Given the description of an element on the screen output the (x, y) to click on. 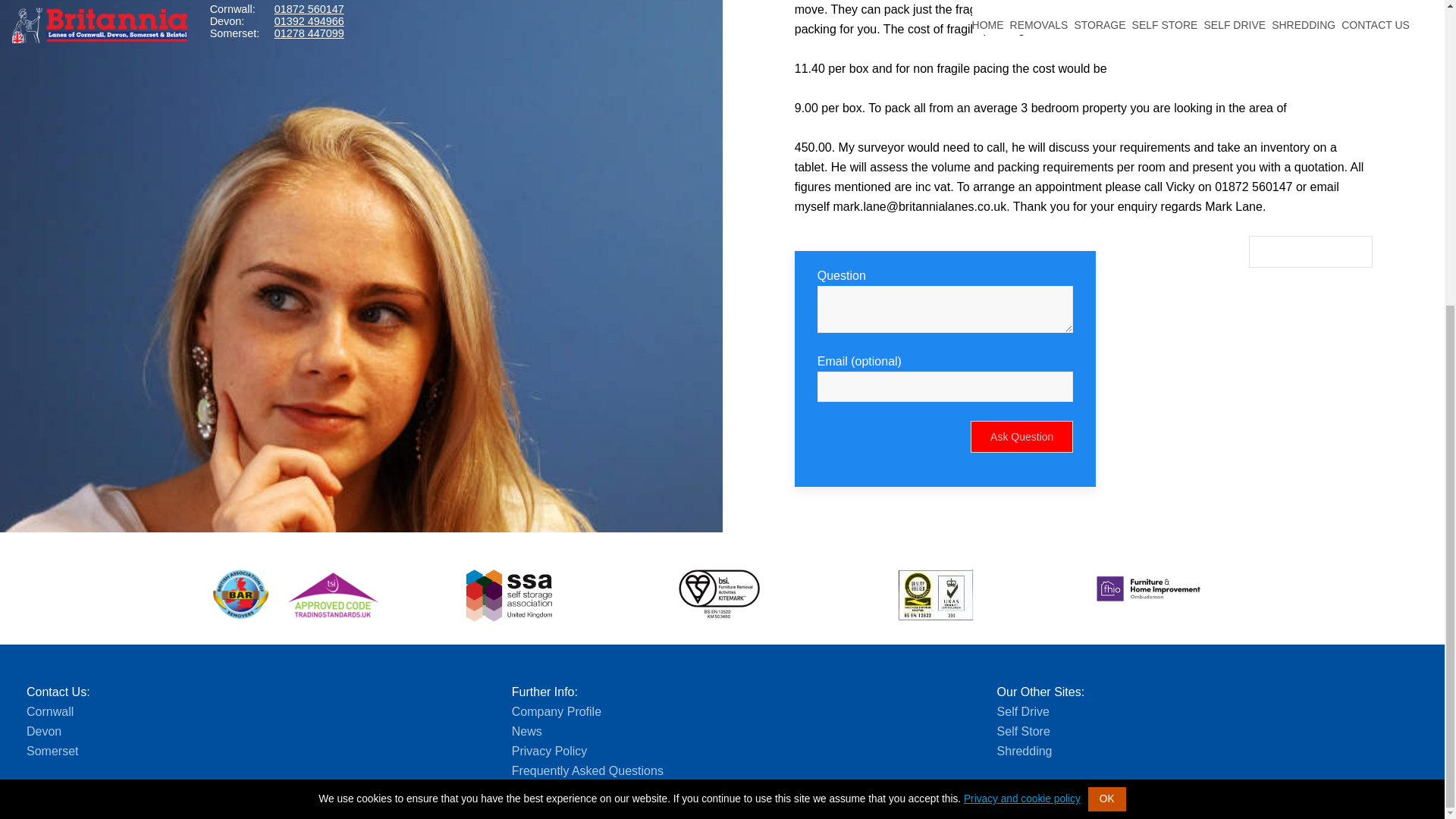
News (526, 730)
Back to questions (1310, 251)
Frequently Asked Questions (587, 770)
Somerset (52, 750)
Shredding (1024, 750)
Ask Question (1022, 436)
Privacy Policy (550, 750)
Devon (43, 730)
Company Profile (556, 711)
Back to questions (1311, 251)
